Given the description of an element on the screen output the (x, y) to click on. 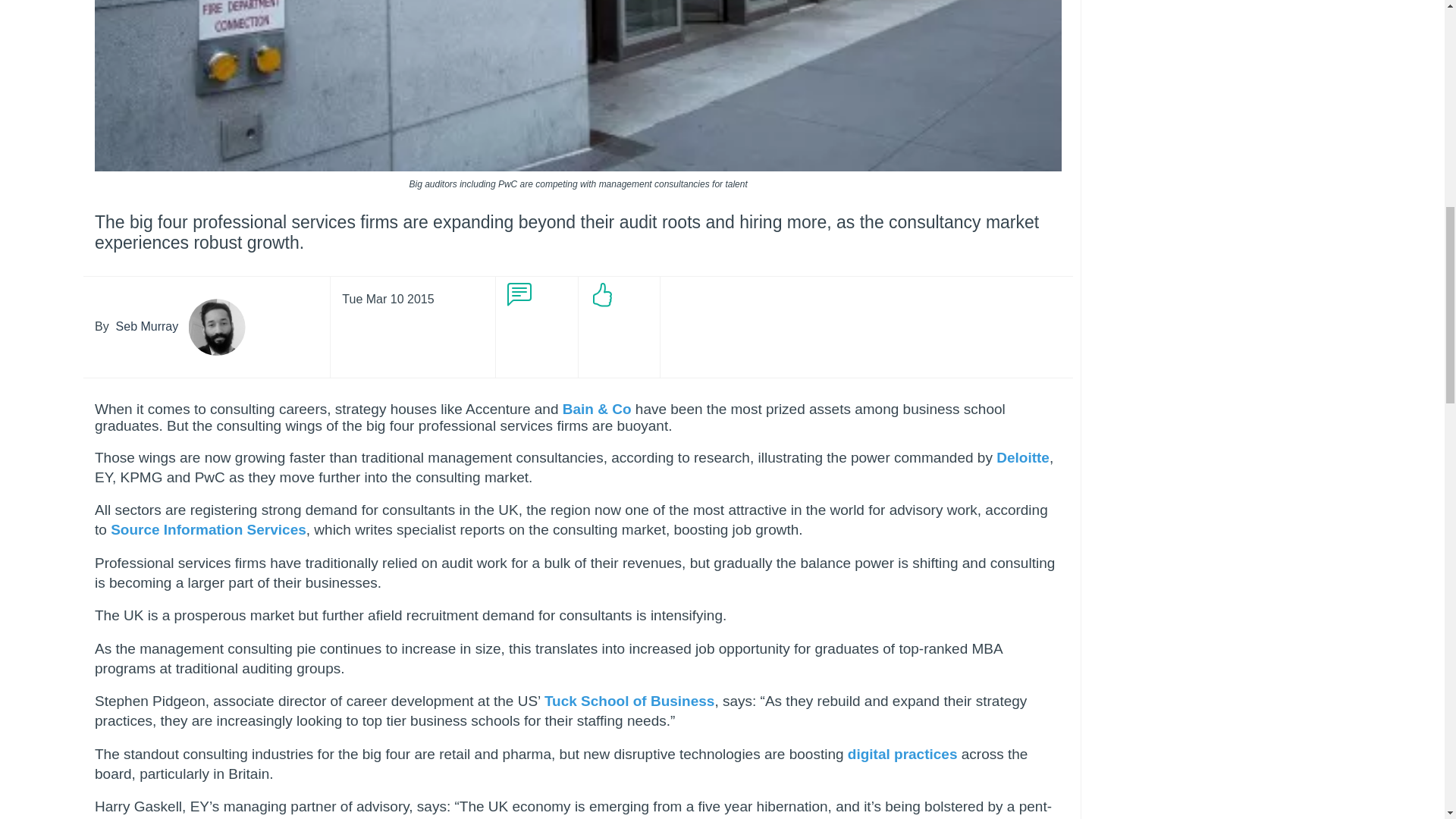
Headshot of Seb Murray (217, 326)
